Given the description of an element on the screen output the (x, y) to click on. 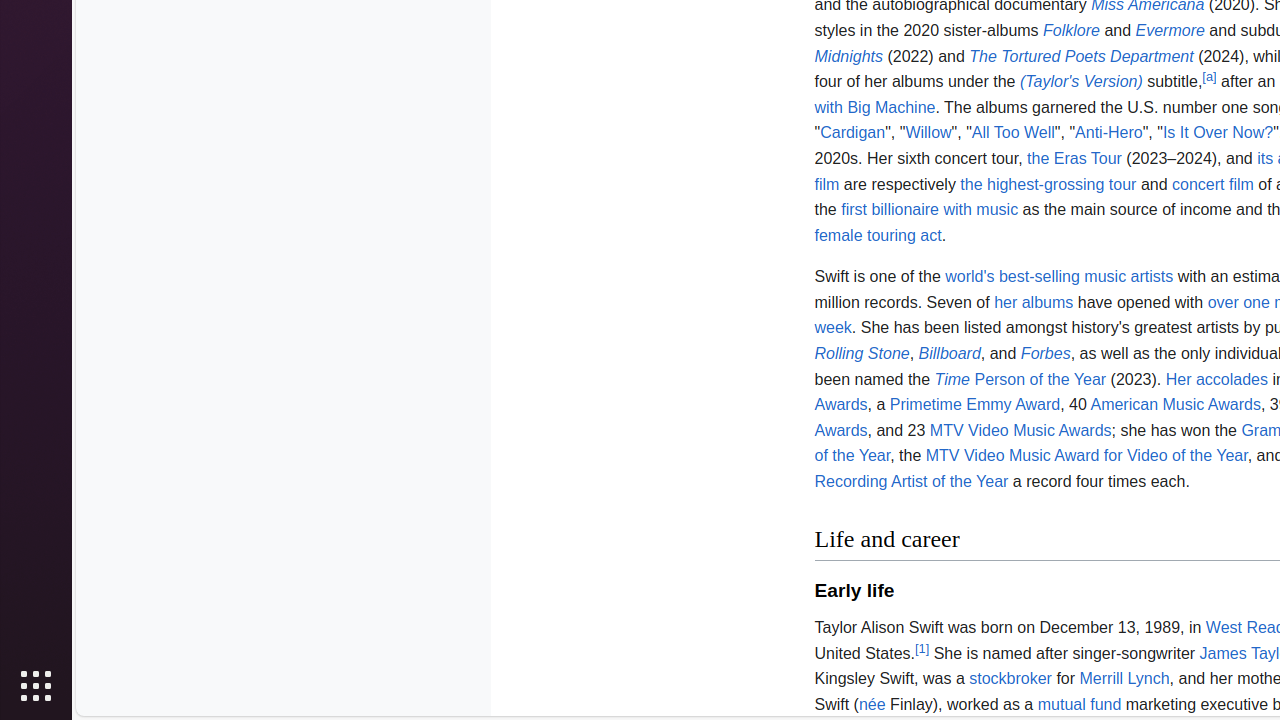
Anti-Hero Element type: link (1109, 133)
(Taylor's Version) Element type: link (1081, 82)
mutual fund Element type: link (1079, 704)
Billboard Element type: link (949, 354)
Show Applications Element type: toggle-button (36, 686)
